Given the description of an element on the screen output the (x, y) to click on. 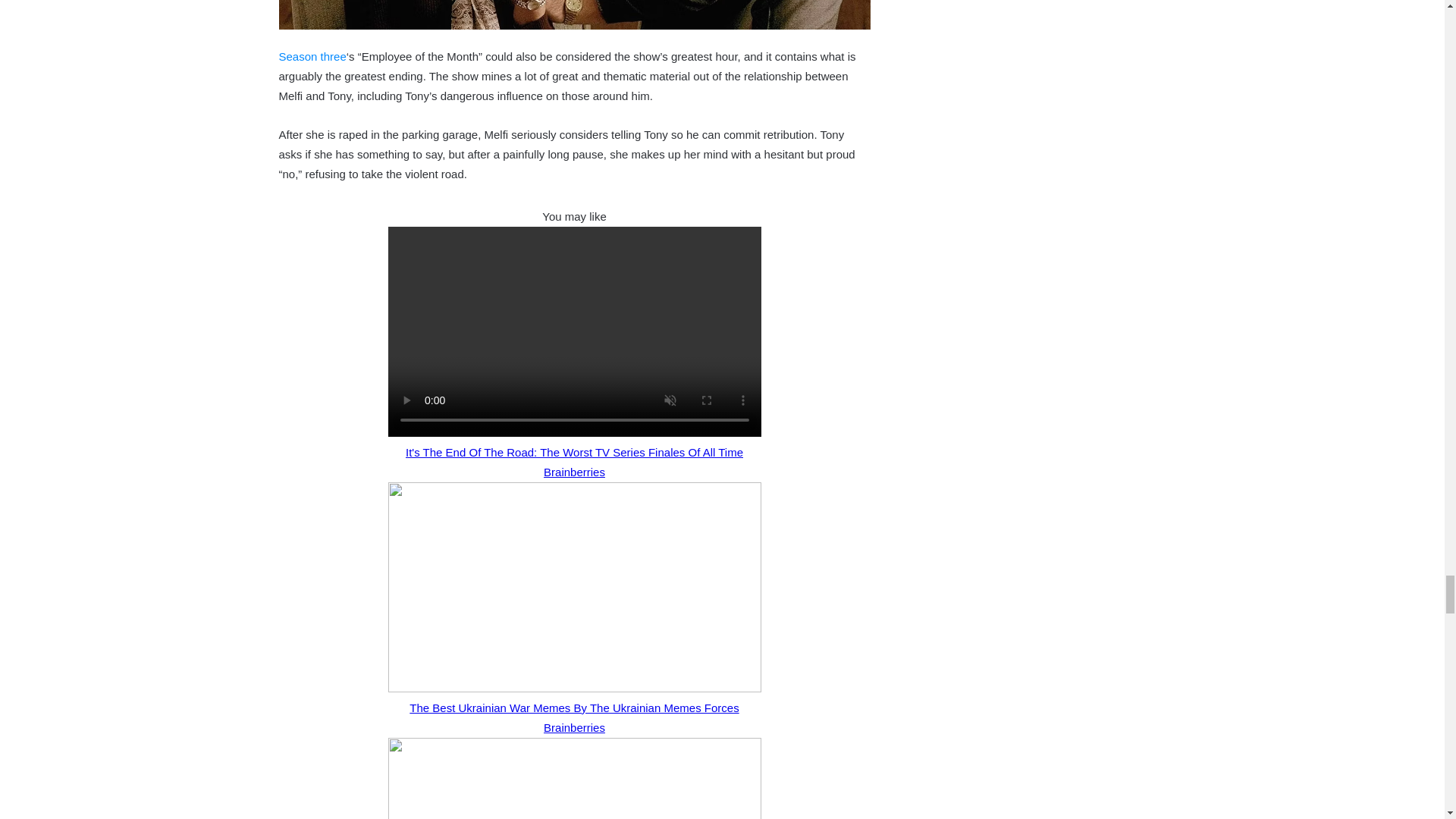
Season three (312, 56)
